Given the description of an element on the screen output the (x, y) to click on. 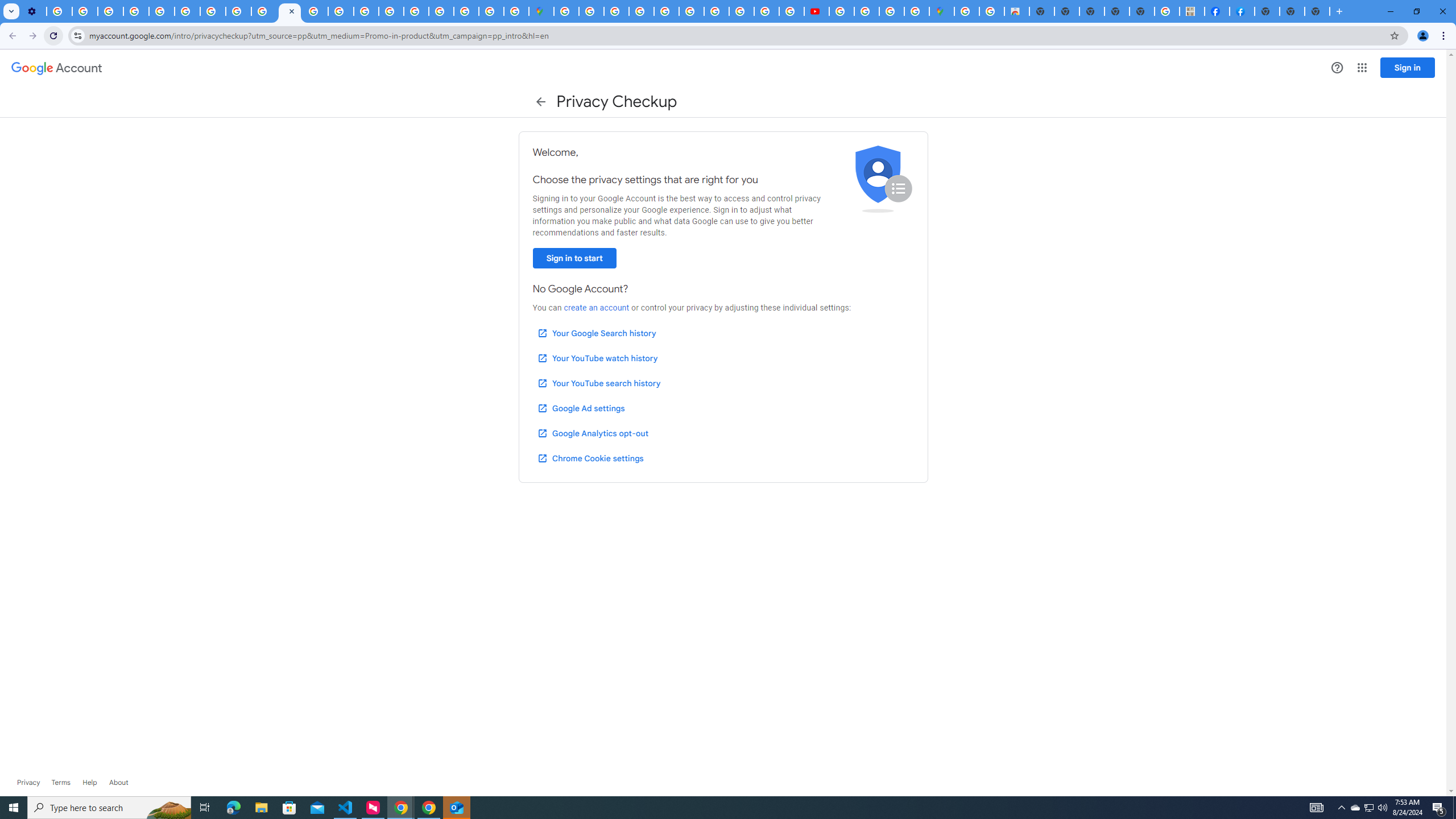
create an account (595, 307)
Privacy Help Center - Policies Help (740, 11)
Your YouTube watch history (597, 358)
Sign in - Google Accounts (440, 11)
Sign in to start (573, 258)
